Given the description of an element on the screen output the (x, y) to click on. 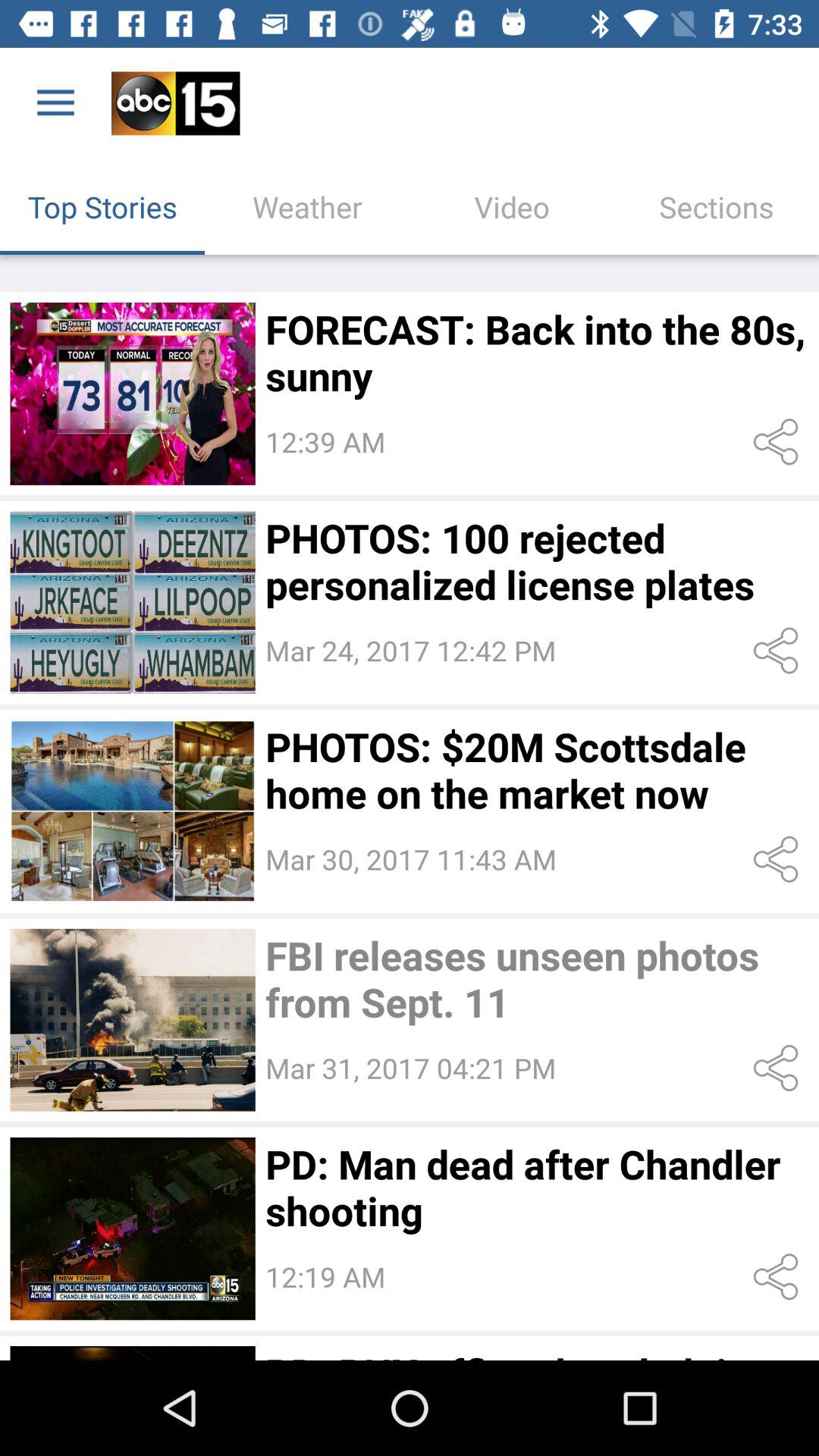
view photos from story (132, 811)
